Given the description of an element on the screen output the (x, y) to click on. 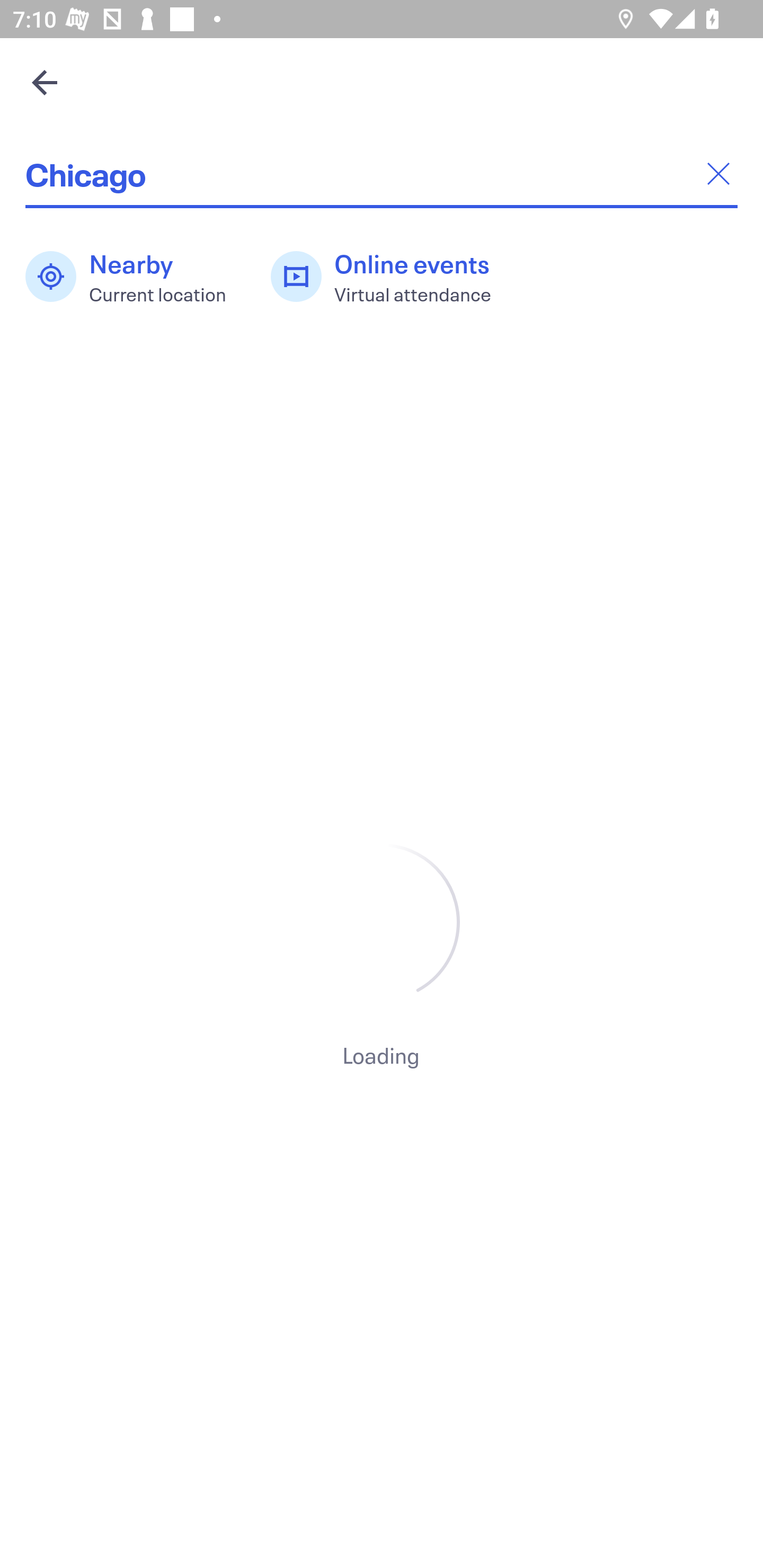
Navigate up (44, 82)
Chicago (381, 173)
Nearby Current location (135, 276)
Online events Virtual attendance (390, 276)
